Given the description of an element on the screen output the (x, y) to click on. 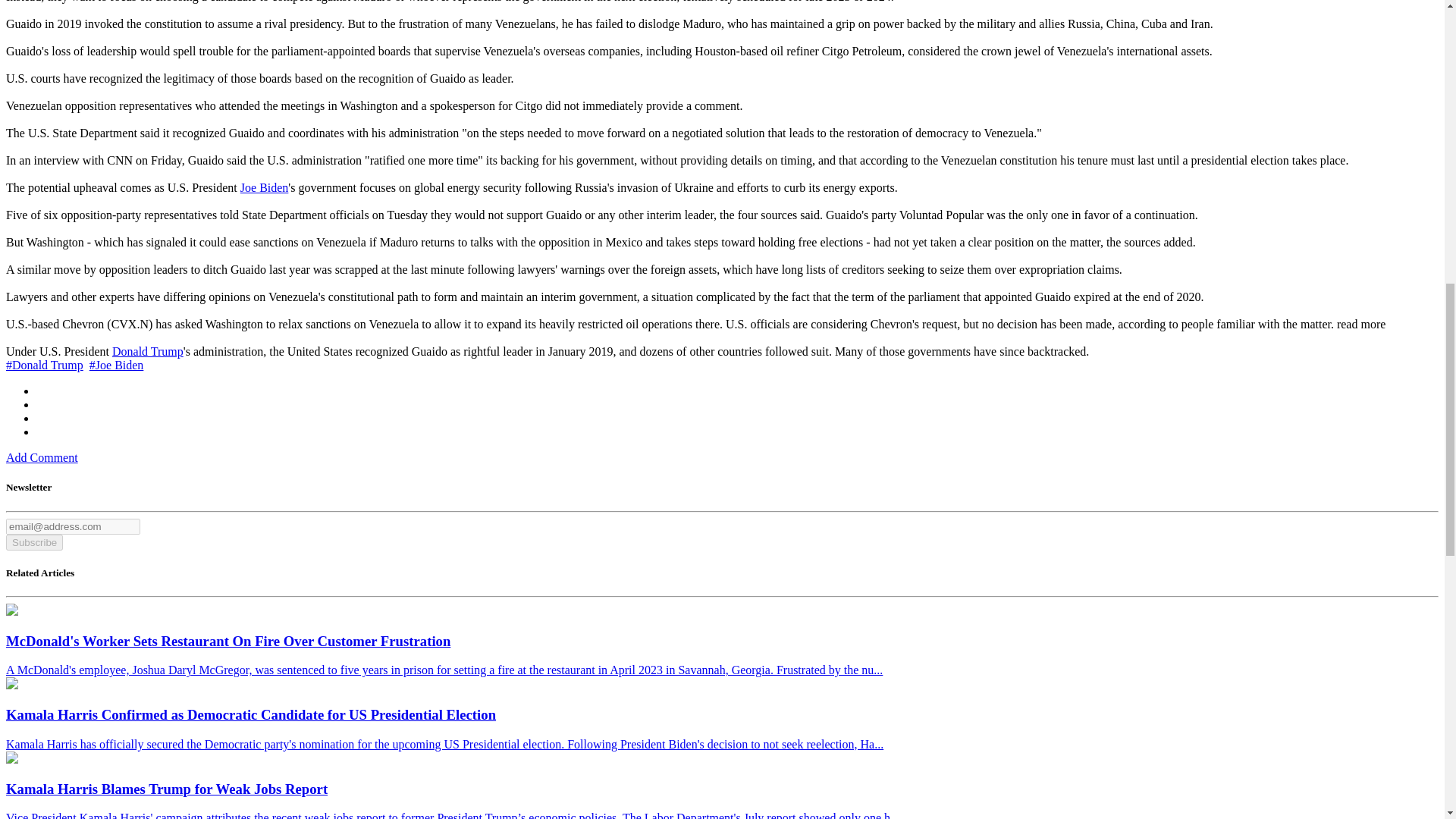
Donald Trump (147, 350)
Kamala Harris Blames Trump for Weak Jobs Report (11, 758)
Joe Biden (264, 187)
Add Comment (41, 457)
Subscribe (33, 542)
